Given the description of an element on the screen output the (x, y) to click on. 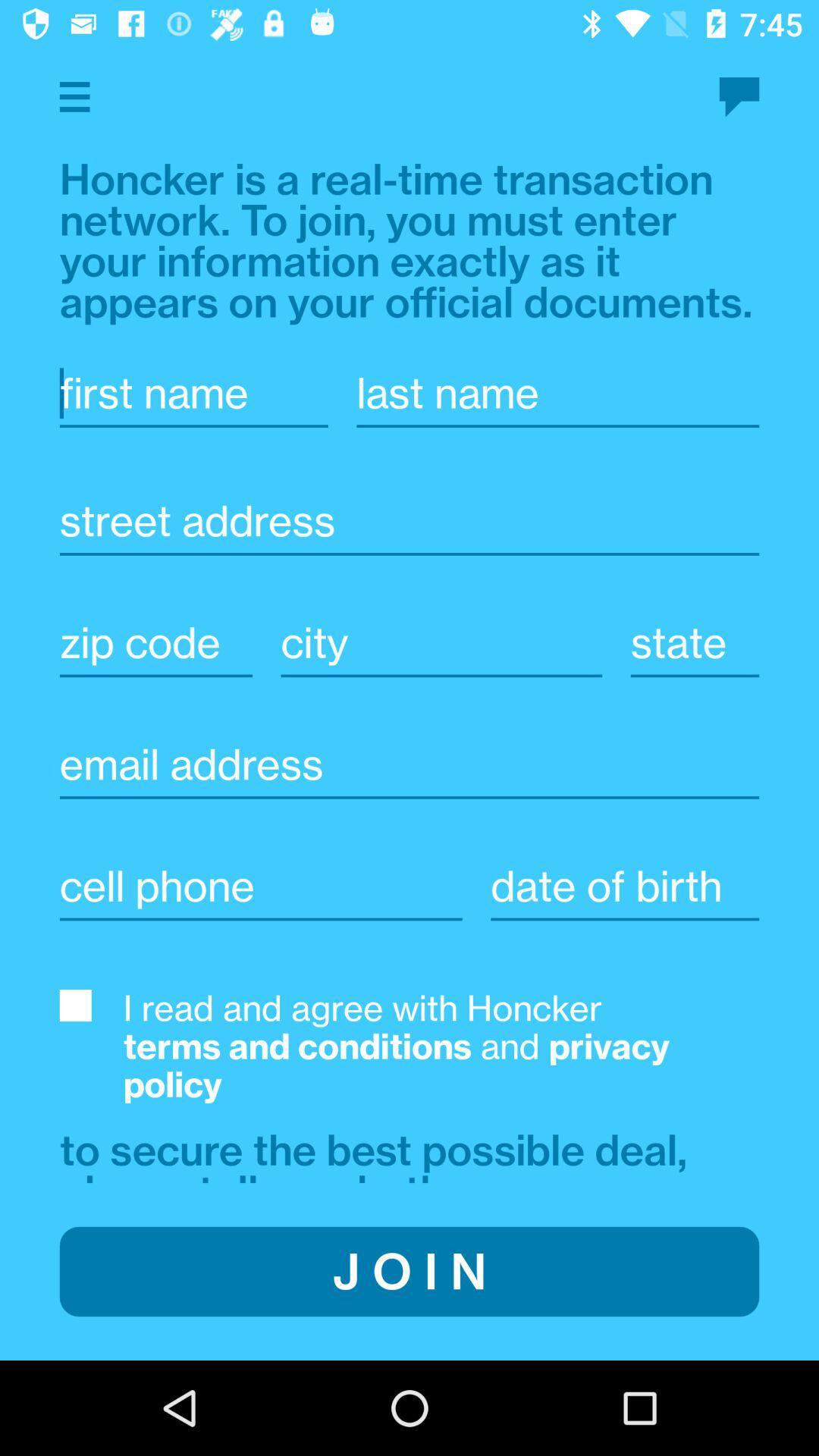
agree to t c (75, 1005)
